Given the description of an element on the screen output the (x, y) to click on. 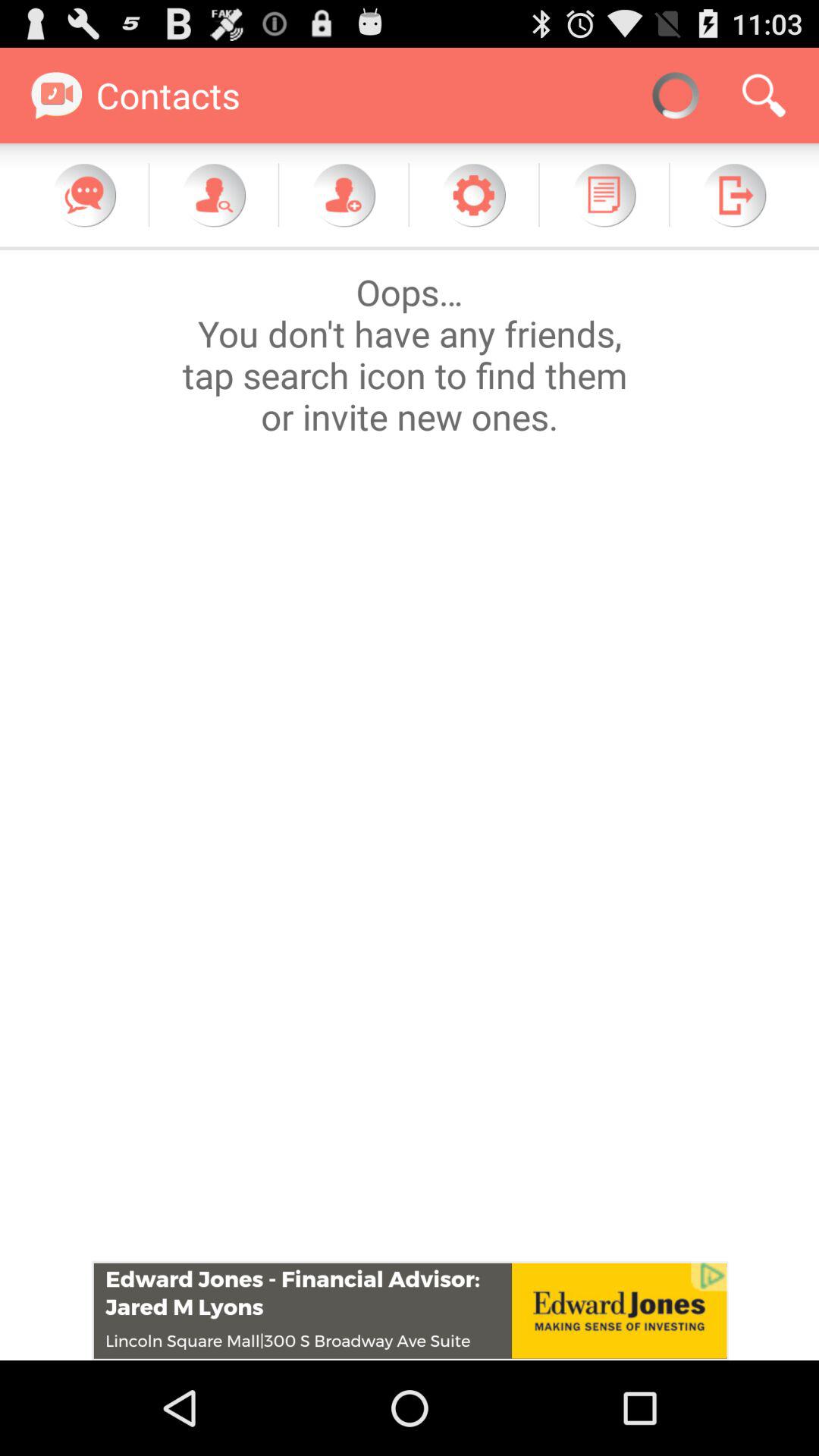
go to messages (84, 194)
